Given the description of an element on the screen output the (x, y) to click on. 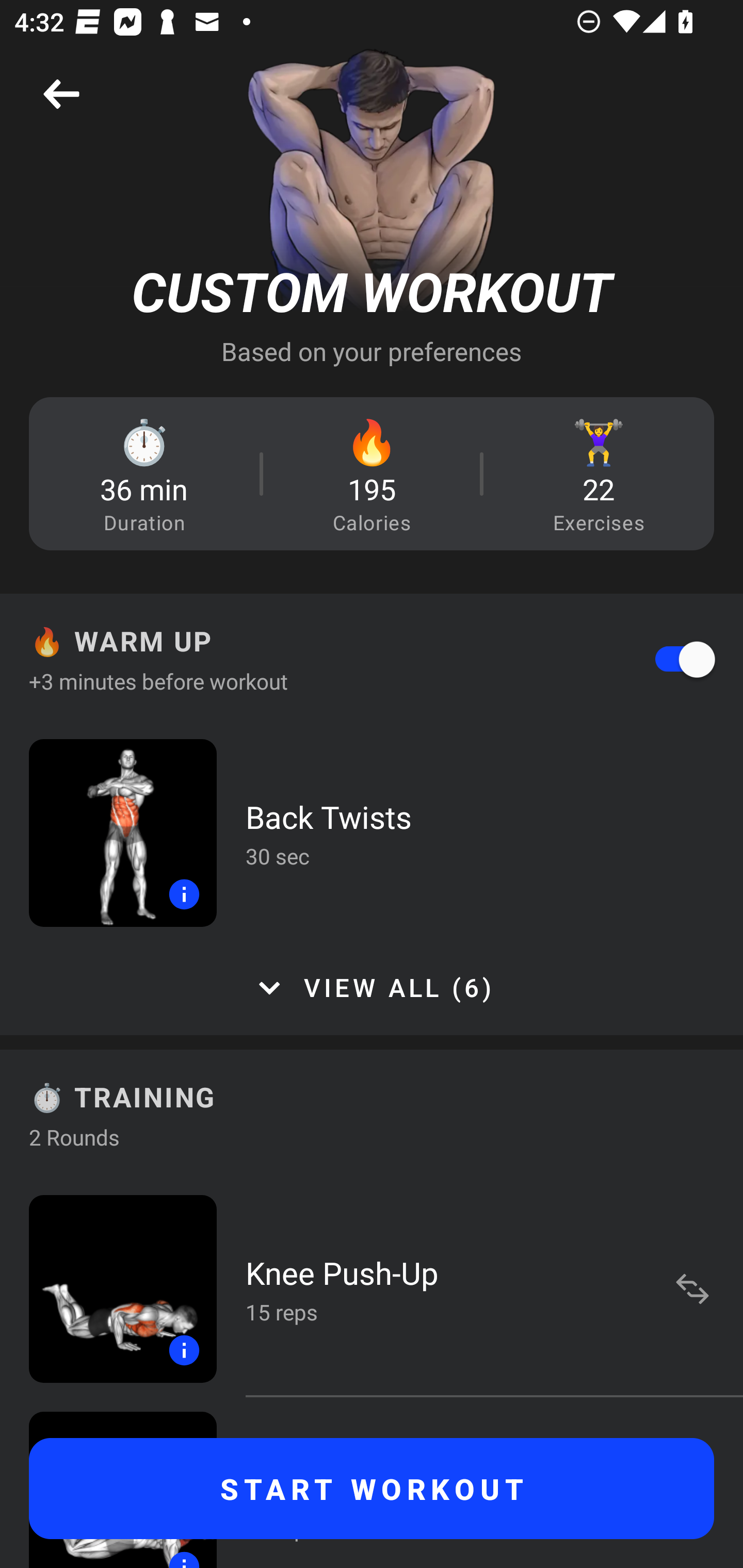
Back Twists 30 sec (371, 832)
VIEW ALL (6) (371, 987)
Knee Push-Up 15 reps (371, 1288)
START WORKOUT (371, 1488)
